Given the description of an element on the screen output the (x, y) to click on. 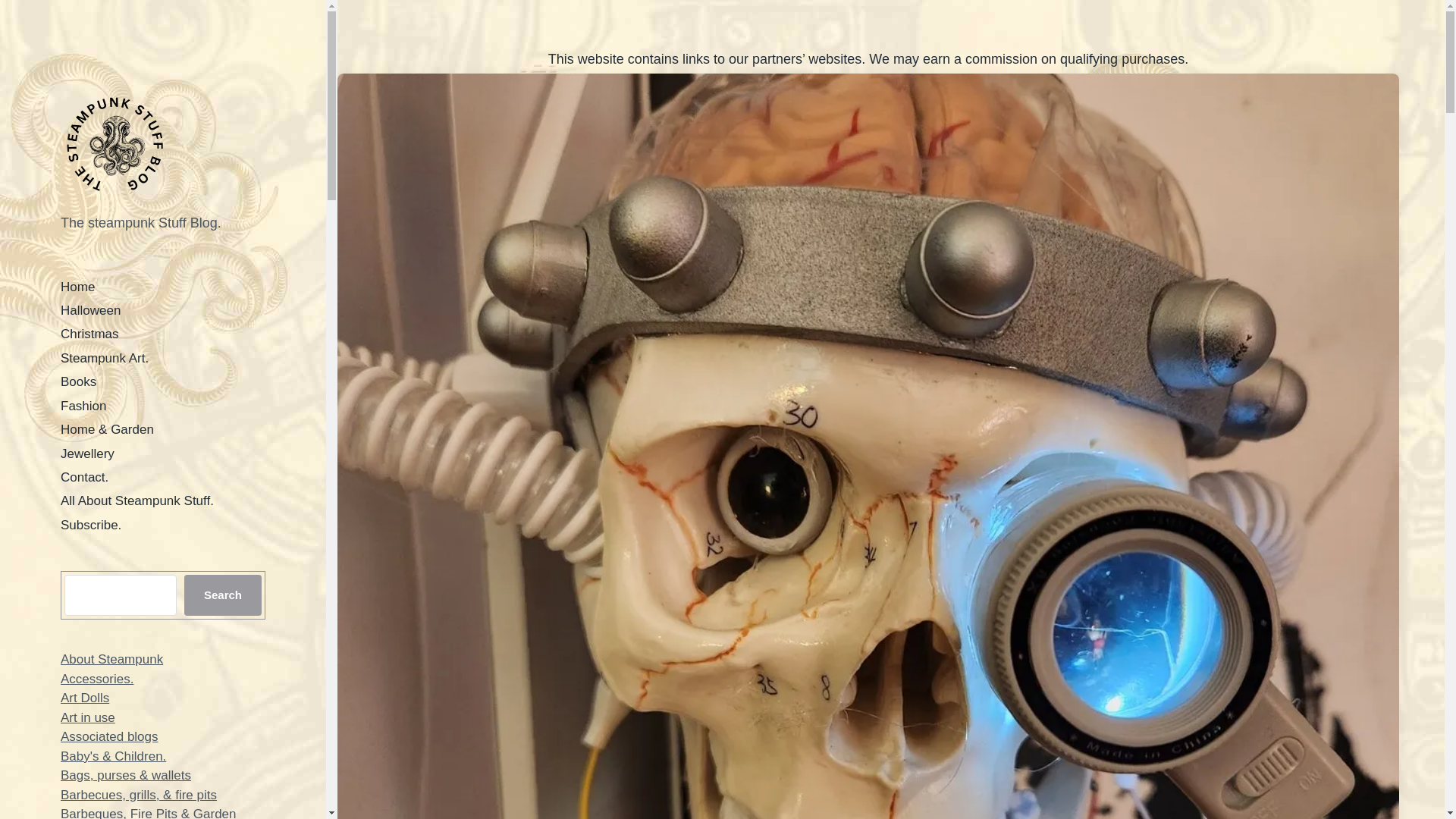
All About Steampunk Stuff. (137, 500)
Subscribe. (90, 524)
Associated blogs (109, 736)
Steampunk Art. (104, 358)
Art in use (88, 717)
Fashion (83, 405)
Accessories. (97, 678)
Books (78, 381)
Contact. (84, 477)
About Steampunk (112, 658)
